Given the description of an element on the screen output the (x, y) to click on. 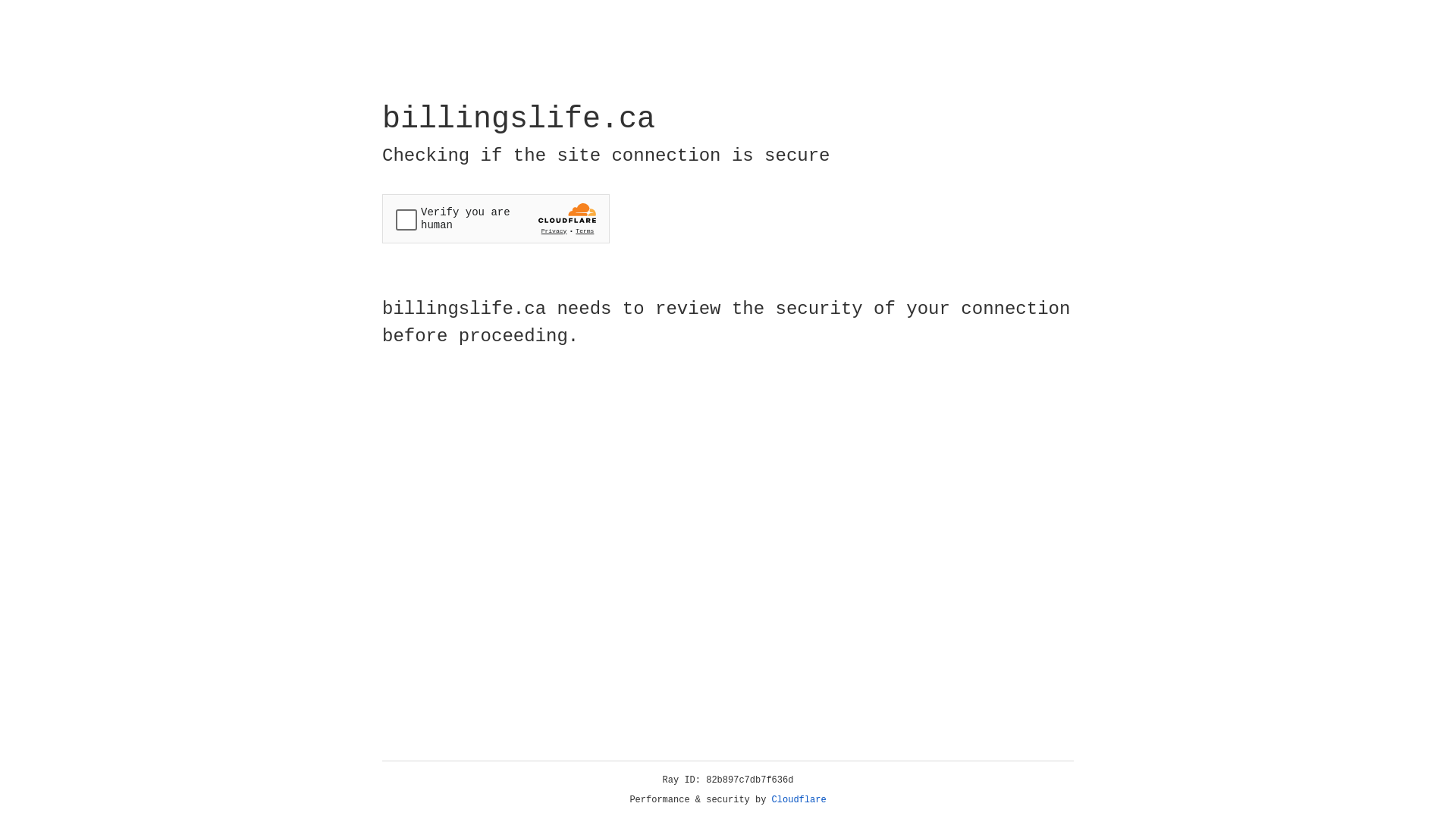
Cloudflare Element type: text (798, 799)
Widget containing a Cloudflare security challenge Element type: hover (495, 218)
